Given the description of an element on the screen output the (x, y) to click on. 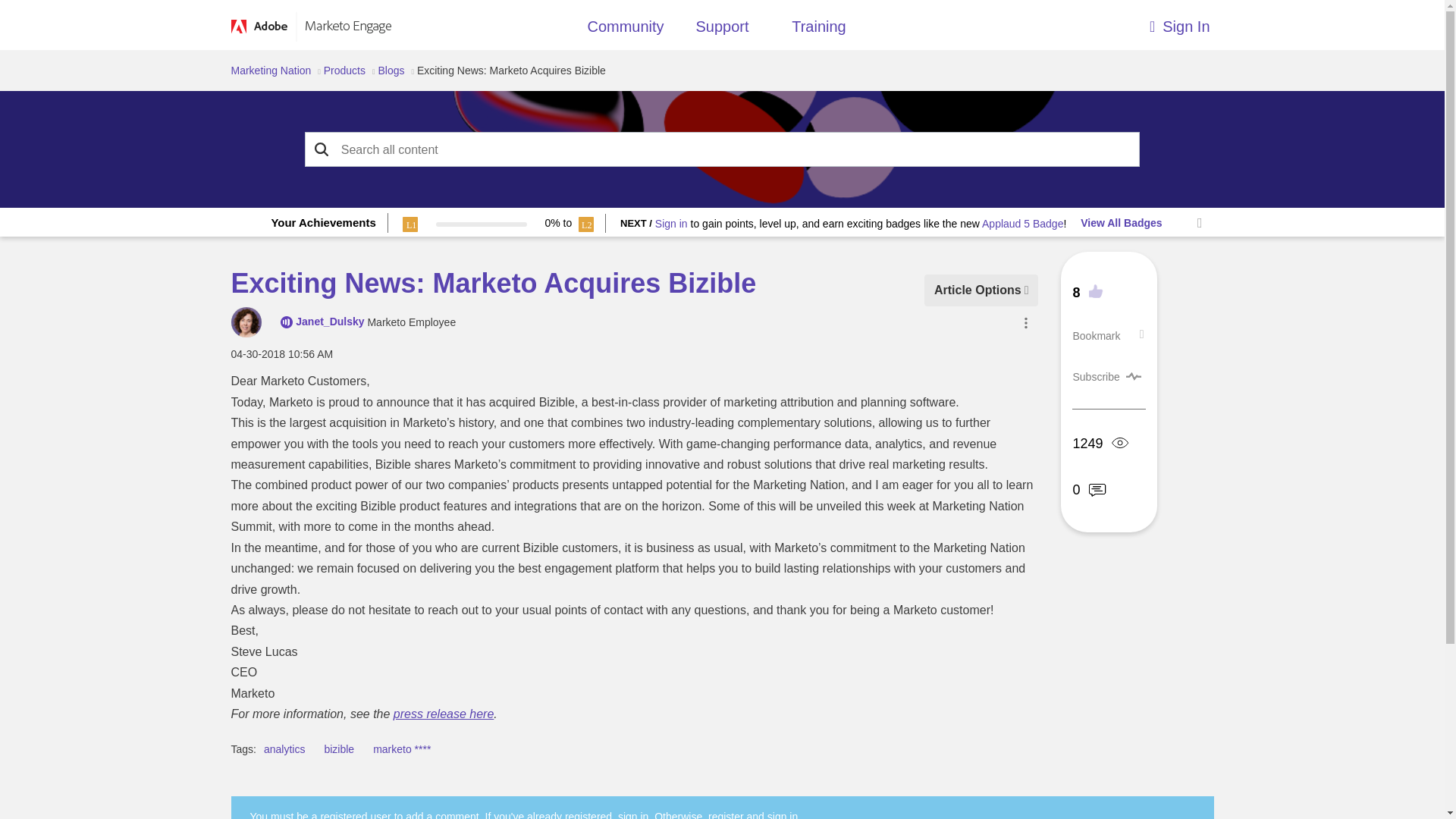
Sign In (1090, 22)
press release here (444, 713)
You must sign-in to give likes to this post (1091, 292)
Insert a query. Press enter to send (722, 149)
Blogs (390, 70)
bizible (338, 748)
Products (344, 70)
8 (1086, 291)
Applaud 5 Badge (1021, 223)
Community (624, 30)
analytics (283, 748)
Marketo Employee (286, 322)
Sign in (671, 223)
Click to Bookmark (1095, 336)
Training (818, 30)
